Given the description of an element on the screen output the (x, y) to click on. 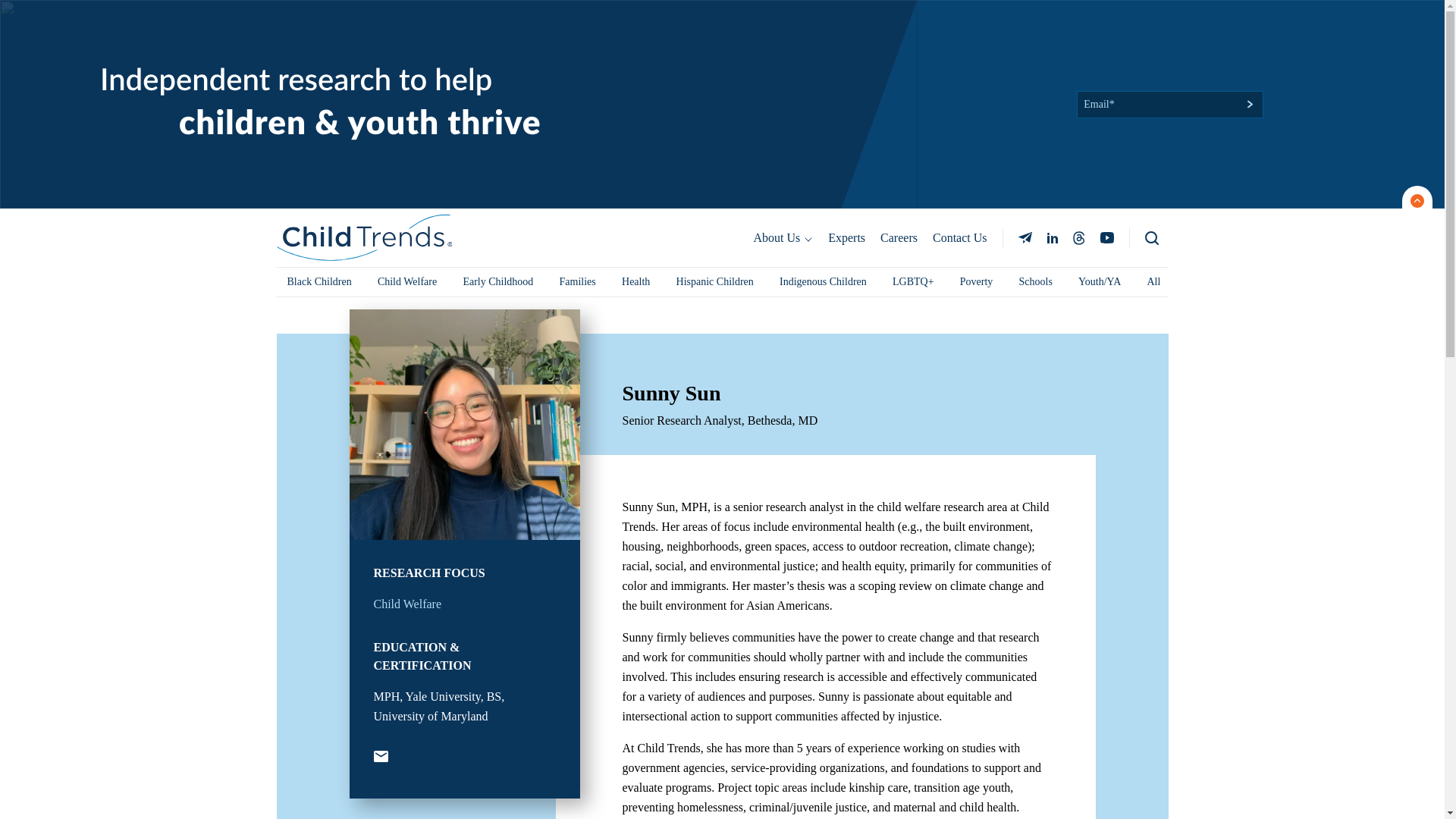
YouTube (379, 549)
Families (577, 72)
ChildTrends (363, 29)
Child Welfare (406, 395)
Early Childhood (497, 72)
Health (636, 72)
All (1152, 72)
Black Children (318, 72)
Hispanic Children (714, 72)
Indigenous Children (823, 72)
